Given the description of an element on the screen output the (x, y) to click on. 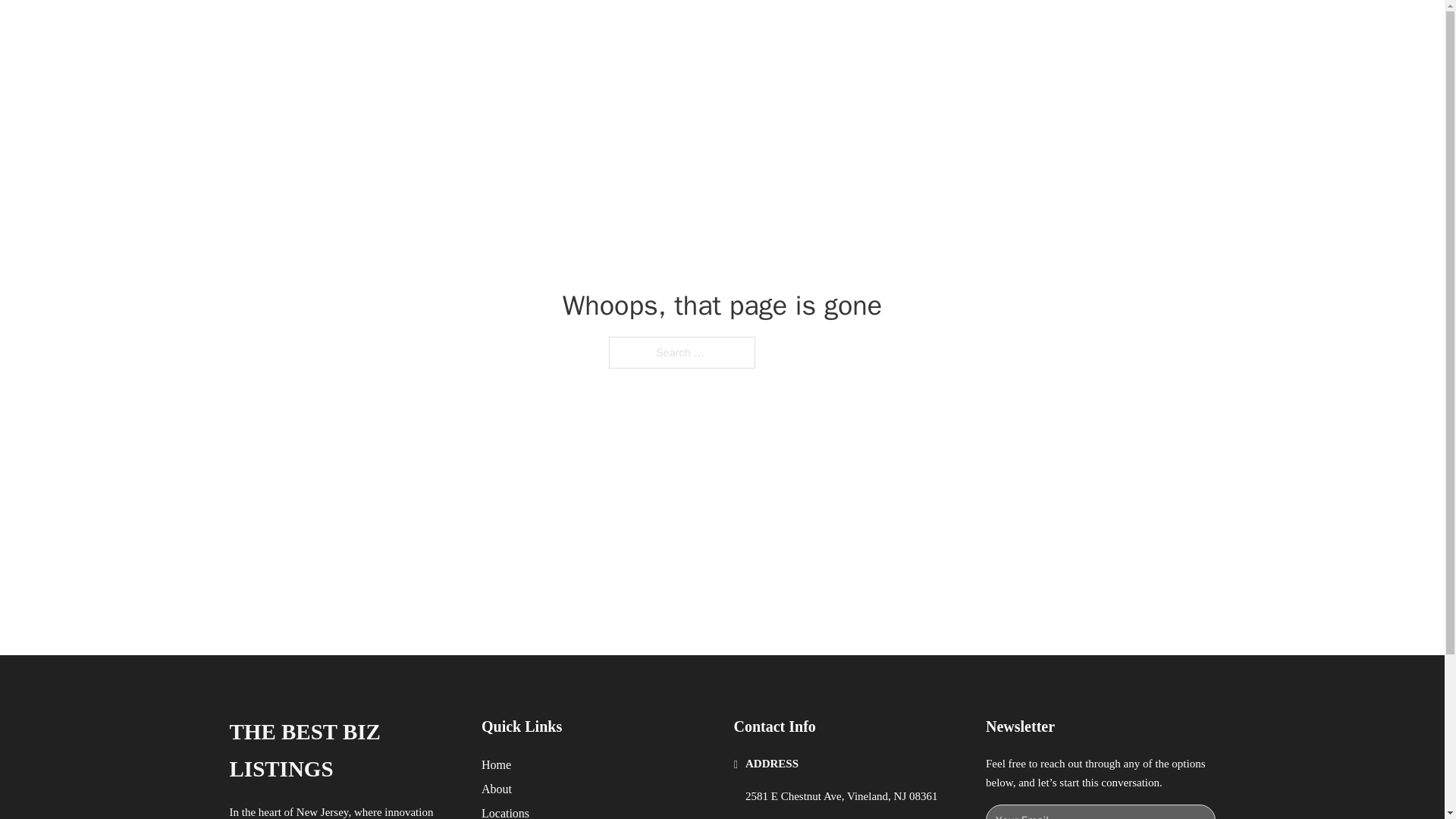
Locations (505, 811)
LOCATIONS (978, 29)
HOME (907, 29)
Home (496, 764)
THE BEST BIZ LISTINGS (426, 28)
THE BEST BIZ LISTINGS (343, 750)
About (496, 788)
